Given the description of an element on the screen output the (x, y) to click on. 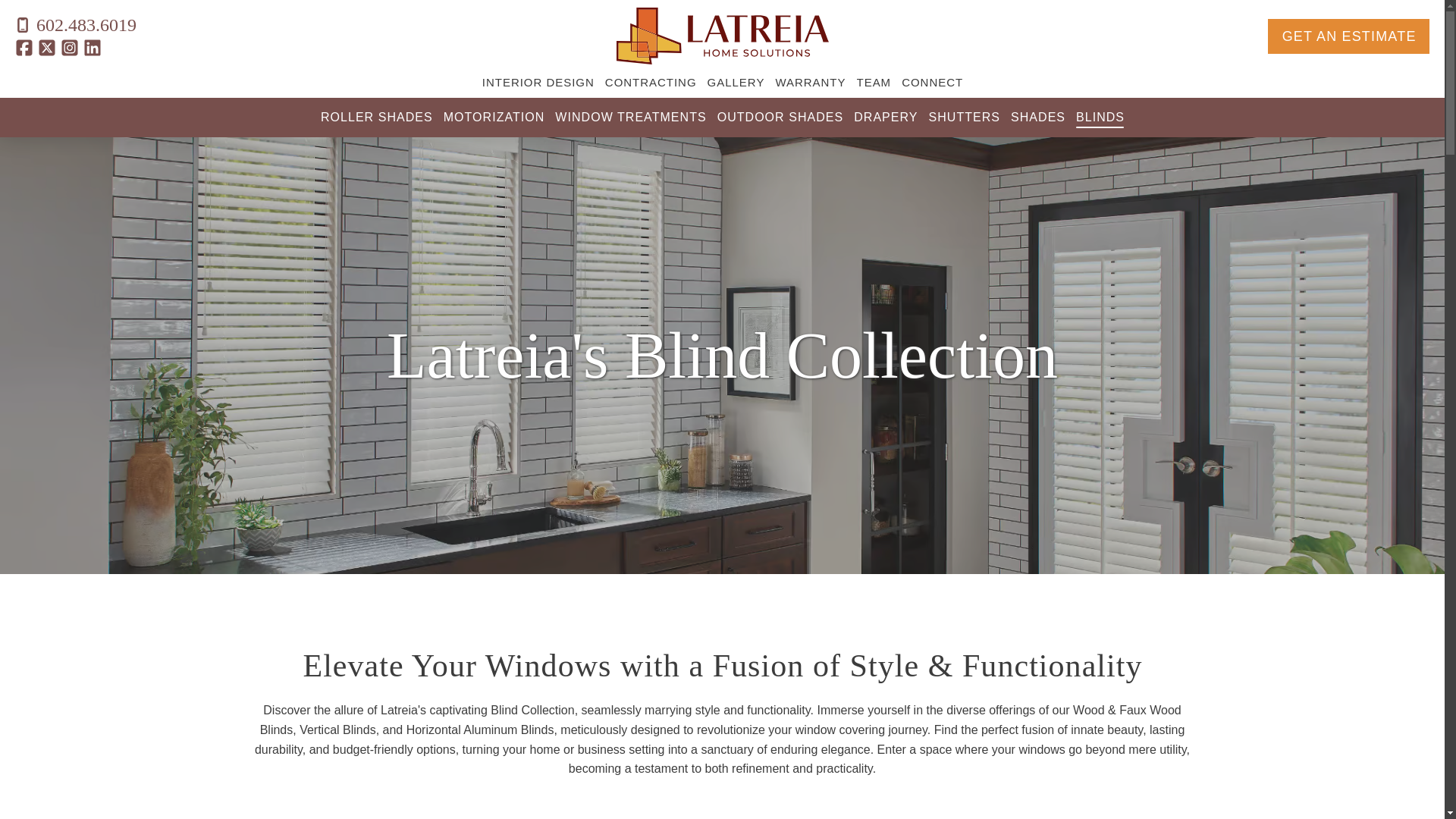
CONTRACTING (650, 84)
OUTDOOR SHADES (780, 117)
GET AN ESTIMATE (1348, 36)
INTERIOR DESIGN (537, 84)
BLINDS (1099, 117)
ROLLER SHADES (376, 117)
MOTORIZATION (494, 117)
SHADES (1037, 117)
CONNECT (931, 84)
TEAM (874, 84)
